Given the description of an element on the screen output the (x, y) to click on. 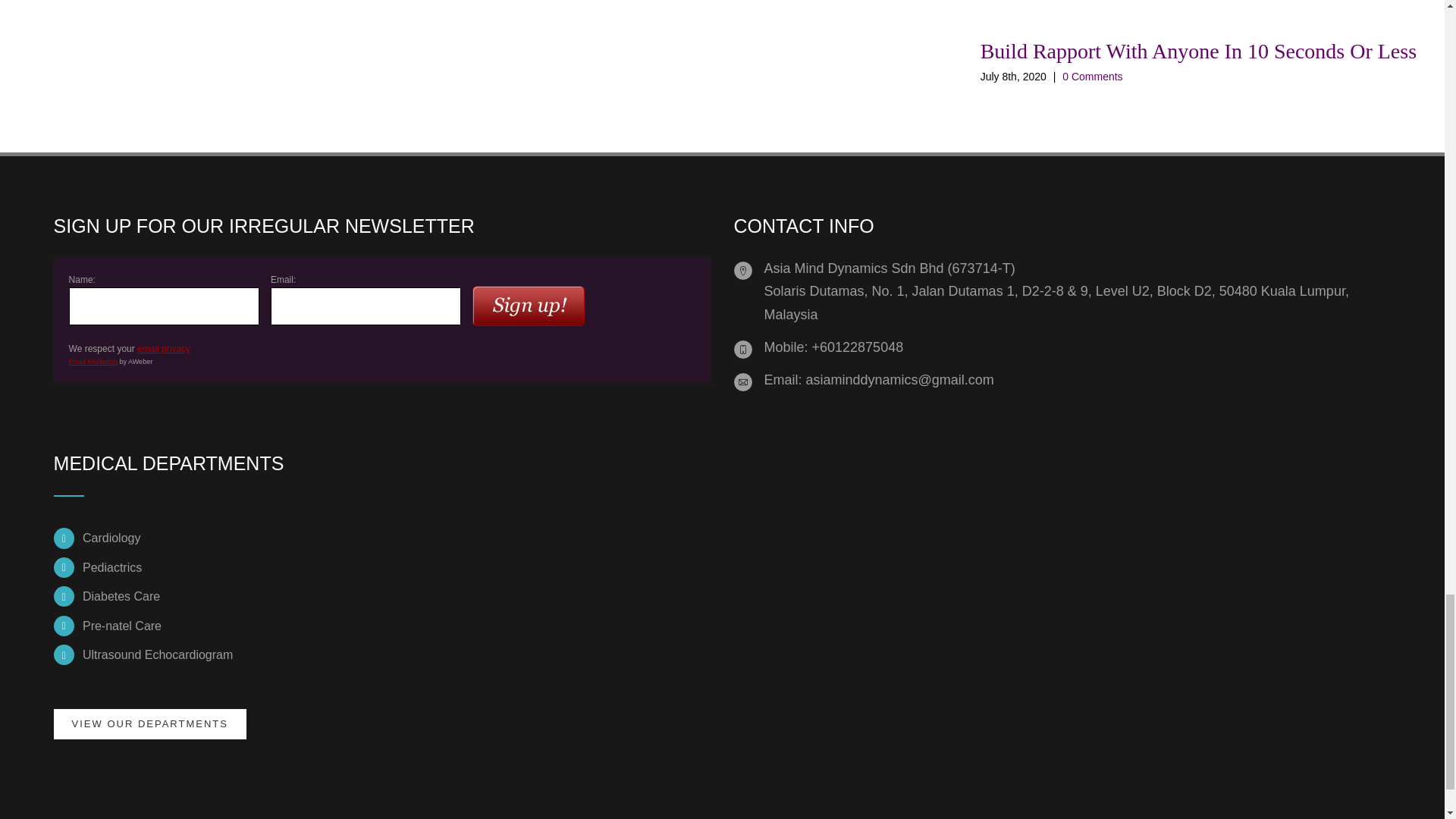
Build Rapport With Anyone In 10 Seconds Or Less (1197, 51)
Email Marketing (92, 361)
Privacy Policy (163, 348)
